Given the description of an element on the screen output the (x, y) to click on. 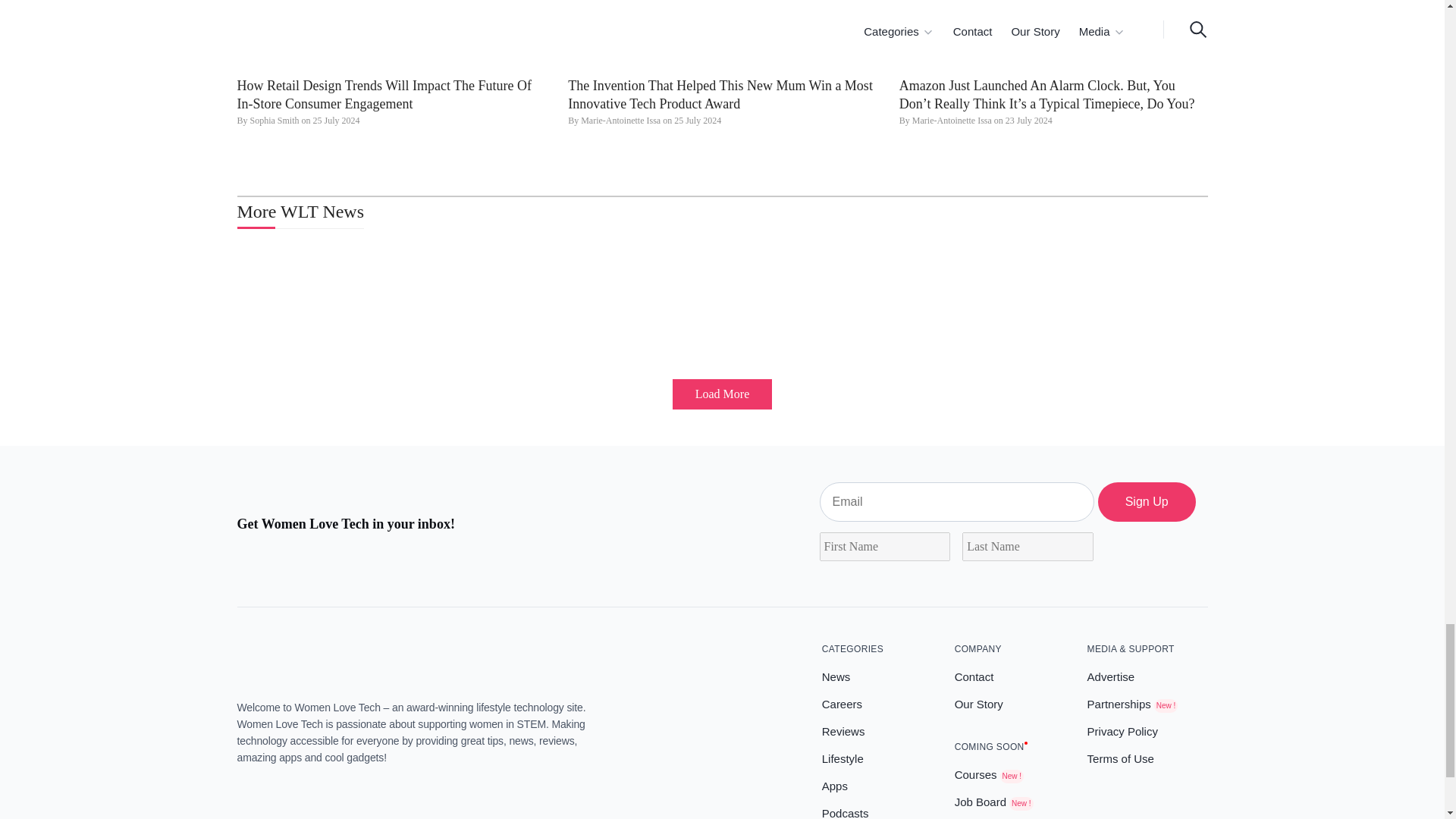
Sign Up (1146, 501)
